Given the description of an element on the screen output the (x, y) to click on. 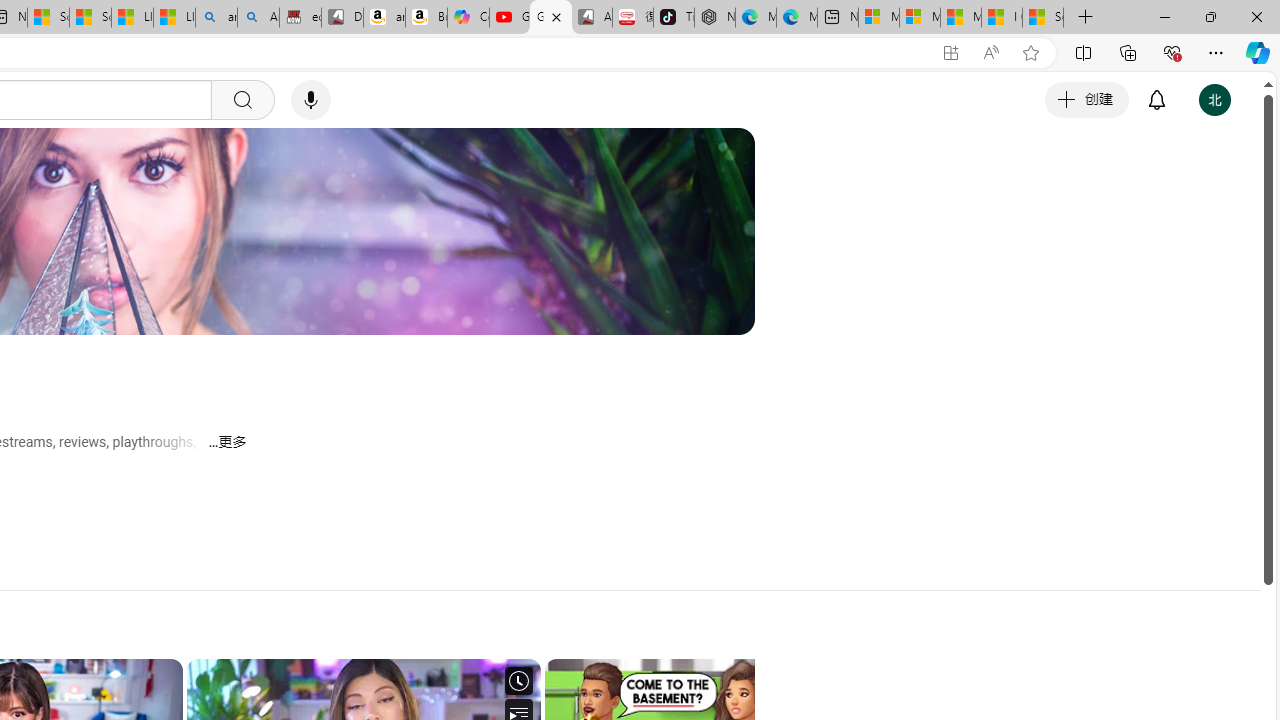
I Gained 20 Pounds of Muscle in 30 Days! | Watch (1001, 17)
All Cubot phones (591, 17)
Amazon Echo Dot PNG - Search Images (258, 17)
Copilot (468, 17)
